Given the description of an element on the screen output the (x, y) to click on. 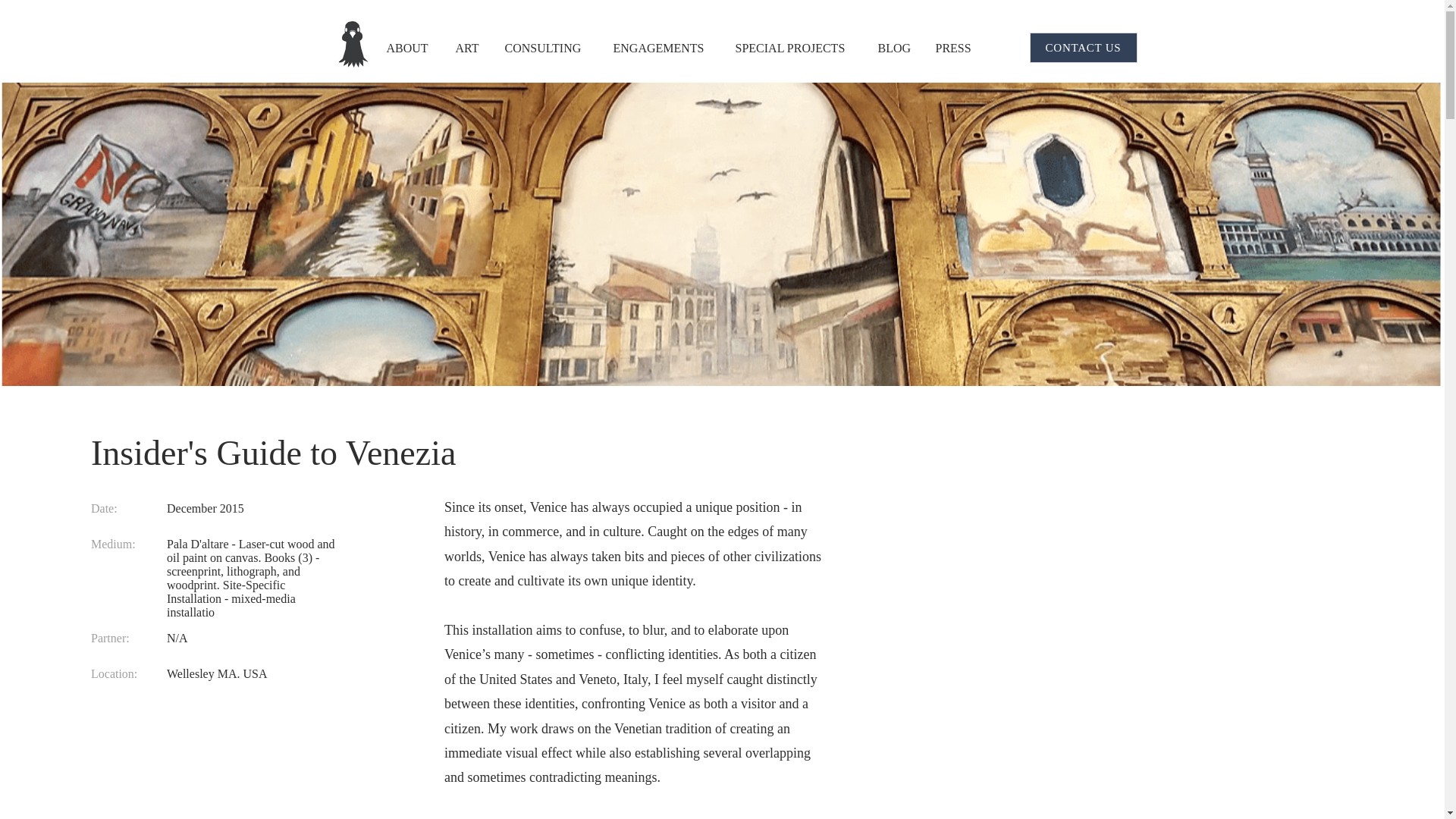
CONTACT US (1083, 47)
ART (468, 48)
ENGAGEMENTS (662, 48)
CONSULTING (547, 48)
BLOG (894, 48)
PRESS (954, 48)
